Given the description of an element on the screen output the (x, y) to click on. 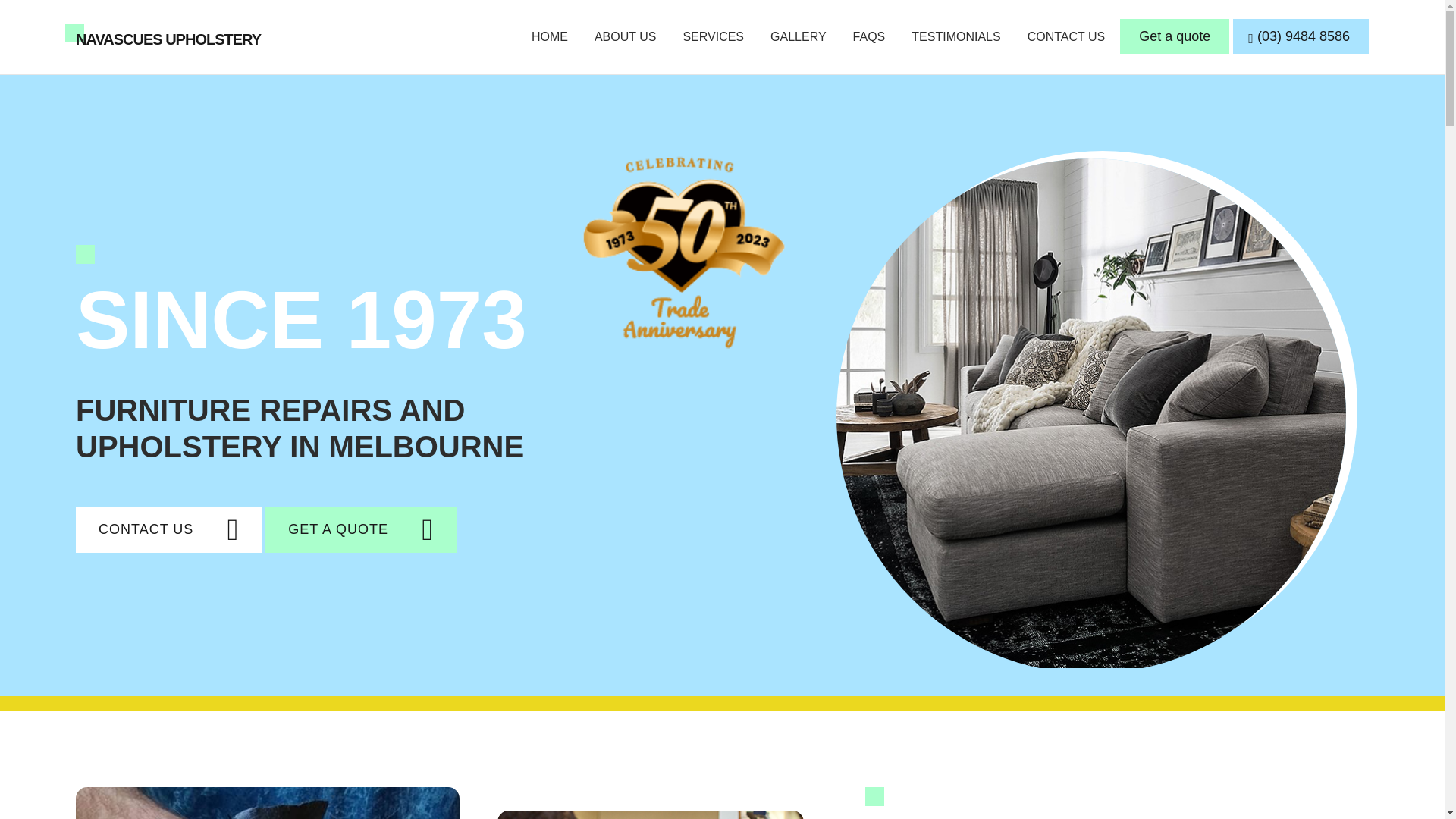
TESTIMONIALS (955, 36)
SERVICES (713, 36)
NAVASCUES UPHOLSTERY (167, 39)
GALLERY (798, 36)
CONTACT US (1066, 36)
FAQS (868, 36)
ABOUT US (625, 36)
HOME (549, 36)
GET A QUOTE (360, 529)
CONTACT US (168, 529)
